Given the description of an element on the screen output the (x, y) to click on. 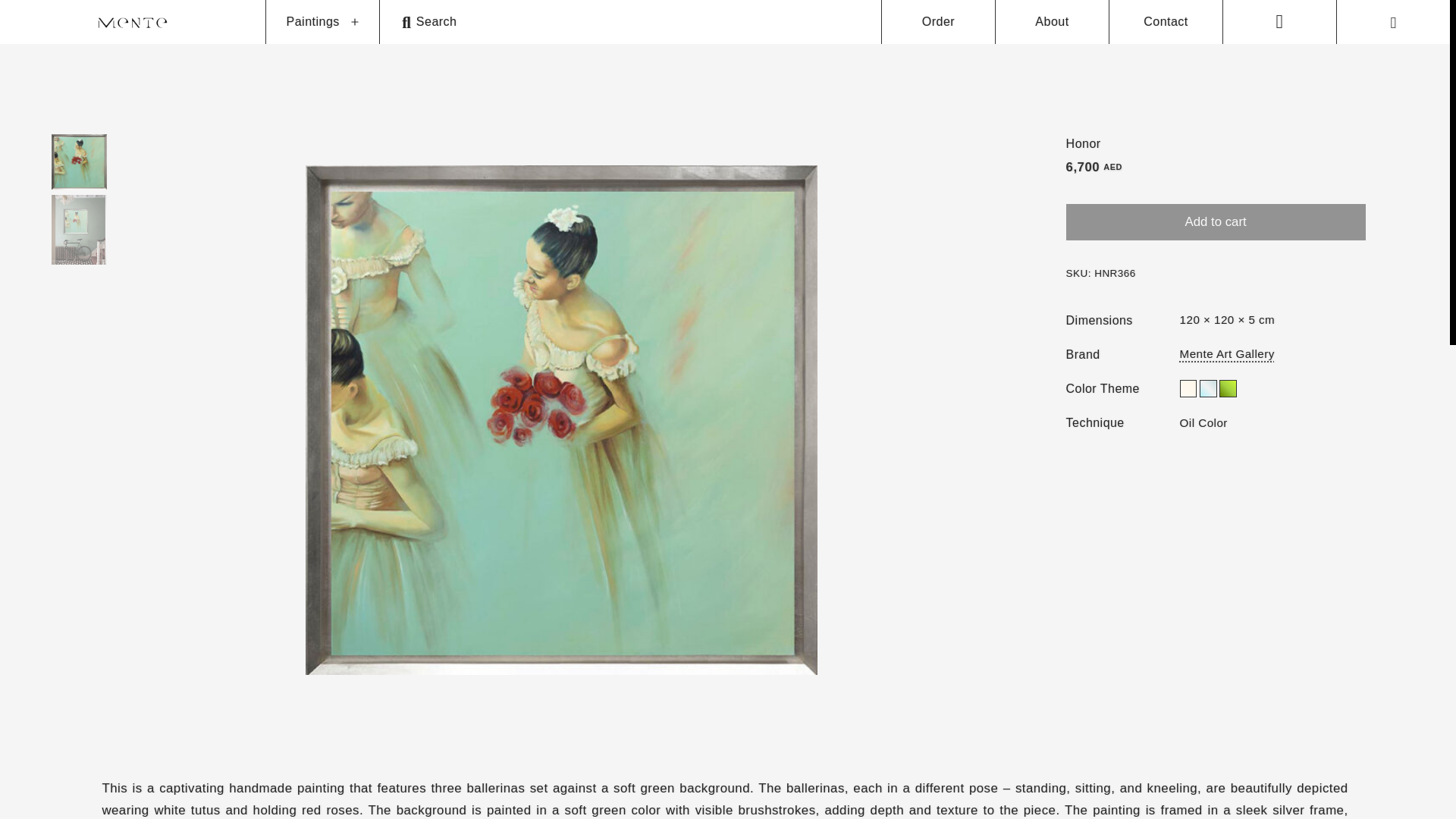
Creamy (1187, 388)
Ice Blue (1208, 388)
Mente Art Gallery (1227, 353)
Contact (1165, 22)
Paintings (312, 22)
Spring (1228, 388)
My Basket (1393, 22)
Add to cart (1215, 221)
Mente Art Gallery (1227, 353)
Order (937, 22)
Search (630, 22)
About (1051, 22)
